Given the description of an element on the screen output the (x, y) to click on. 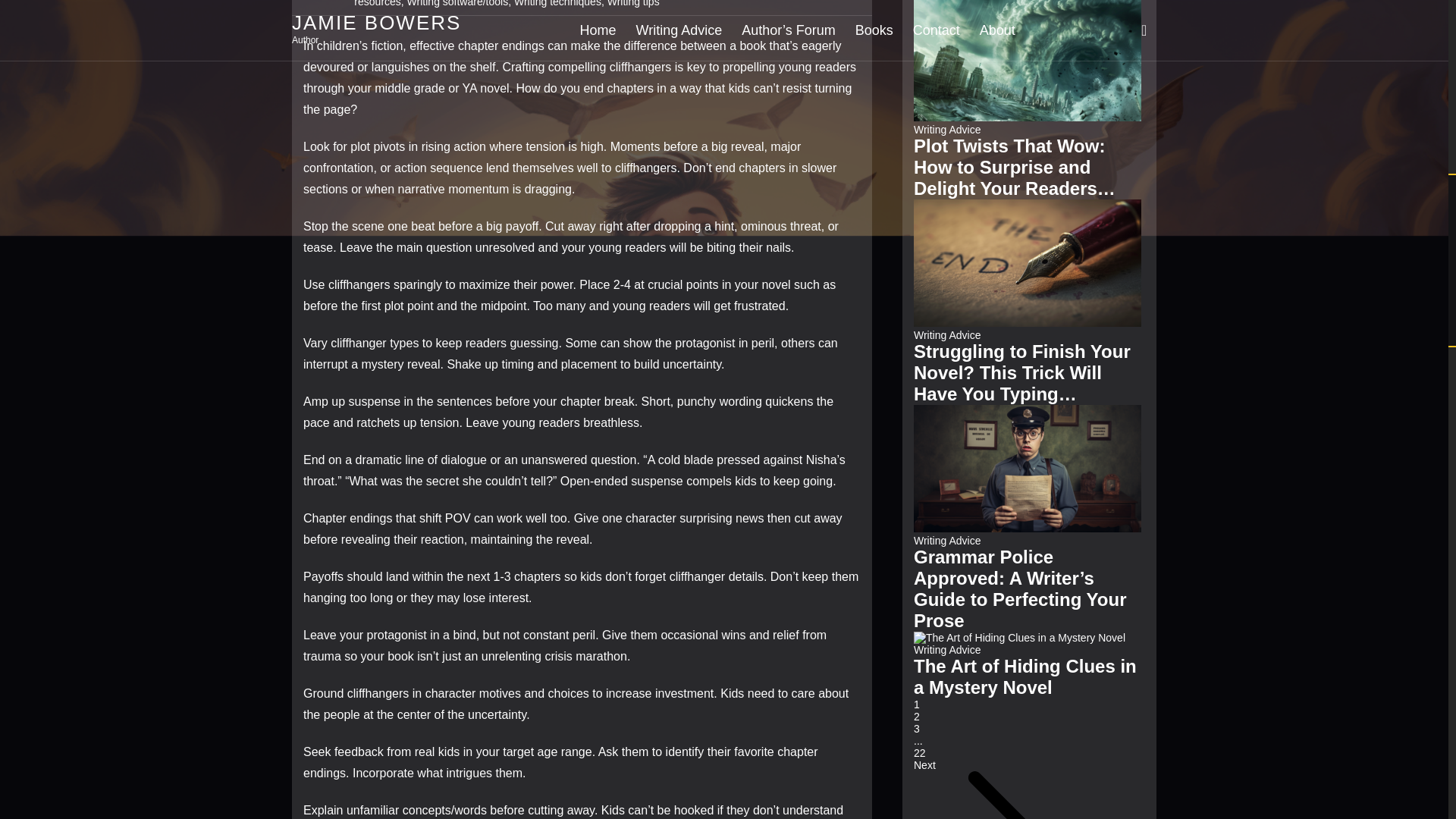
Writing resources (590, 3)
Writing tips (633, 3)
Writing techniques (557, 3)
